Given the description of an element on the screen output the (x, y) to click on. 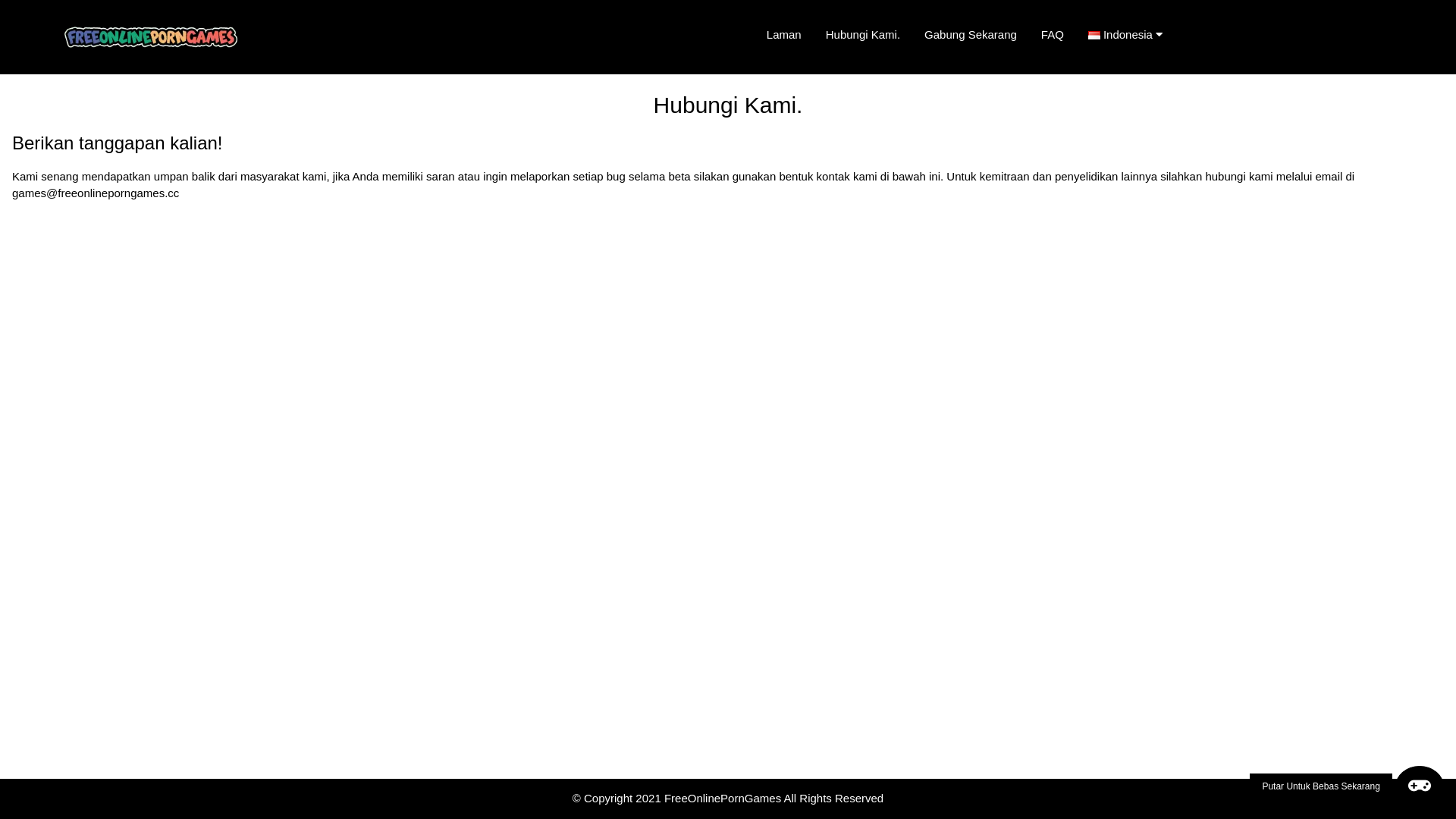
FAQ Element type: text (1052, 35)
Indonesia Element type: text (1131, 35)
Hubungi Kami. Element type: text (862, 35)
Putar Untuk Bebas Sekarang Element type: text (1346, 785)
Laman Element type: text (783, 35)
Gabung Sekarang Element type: text (970, 35)
